Given the description of an element on the screen output the (x, y) to click on. 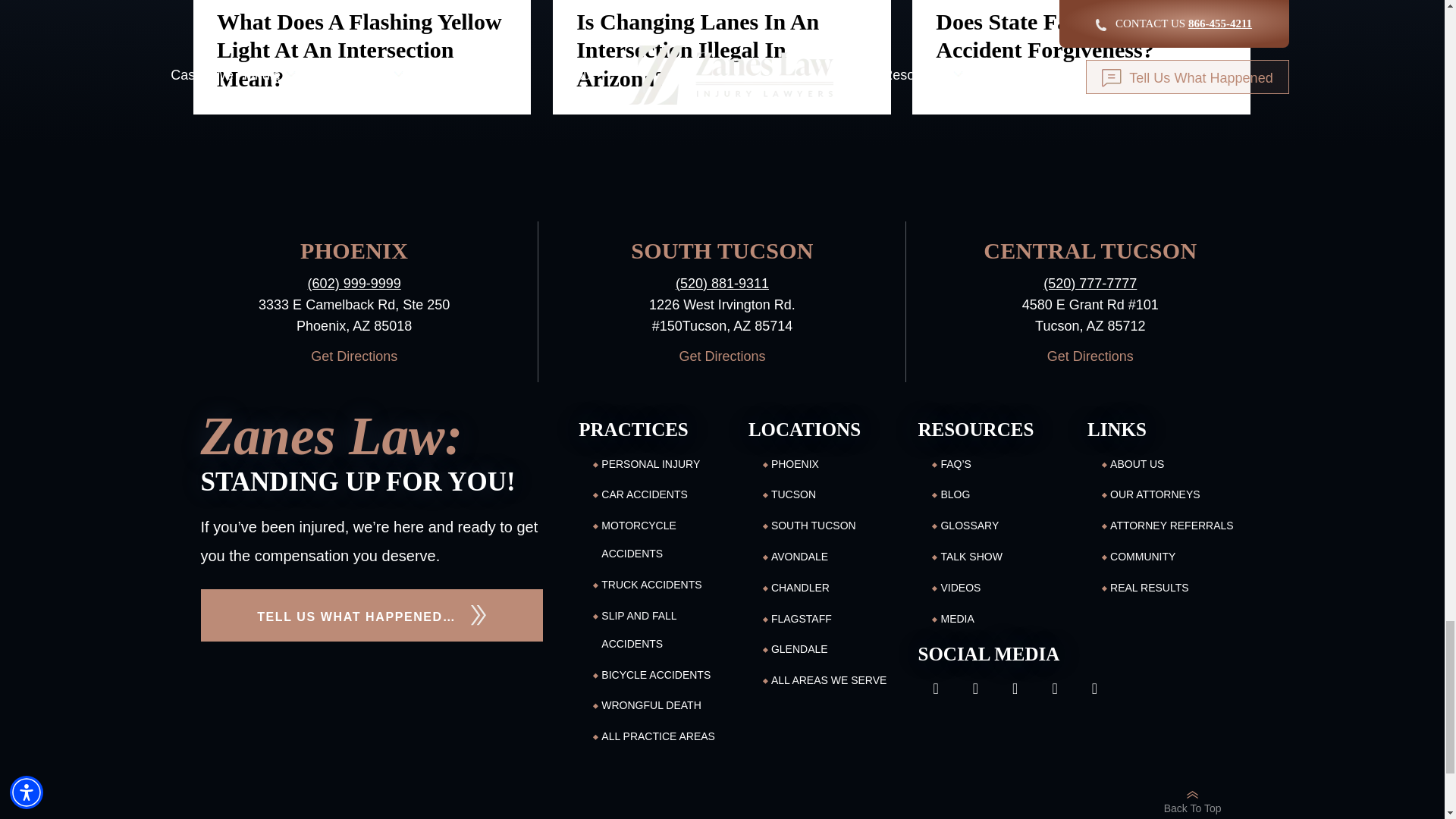
Get Directions (1089, 356)
Back To Top (1192, 800)
Get Directions (722, 356)
Get Directions (353, 356)
